Given the description of an element on the screen output the (x, y) to click on. 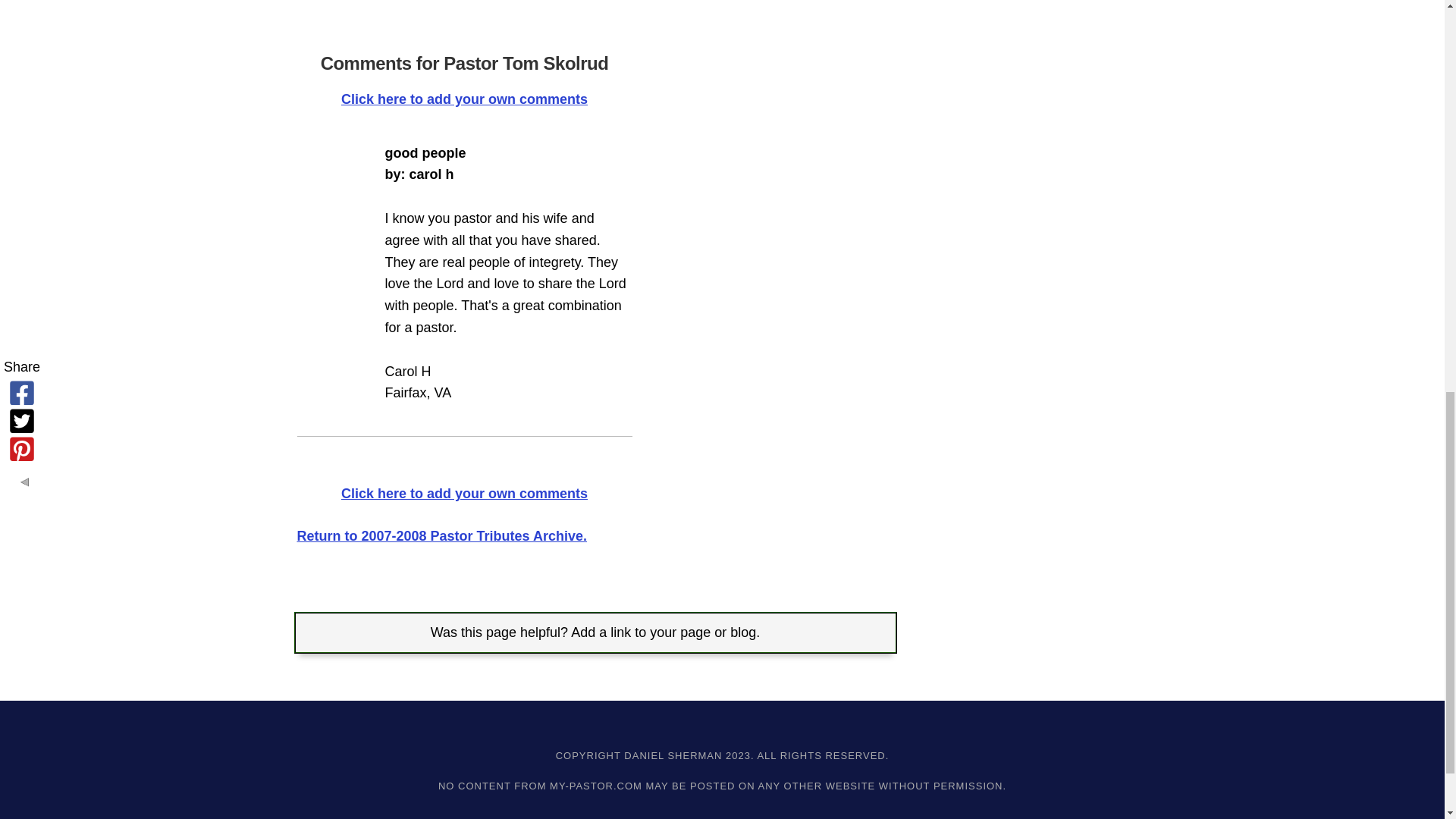
Return to 2007-2008 Pastor Tributes Archive. (441, 535)
Click here to add your own comments (464, 99)
Click here to add your own comments (464, 493)
